Given the description of an element on the screen output the (x, y) to click on. 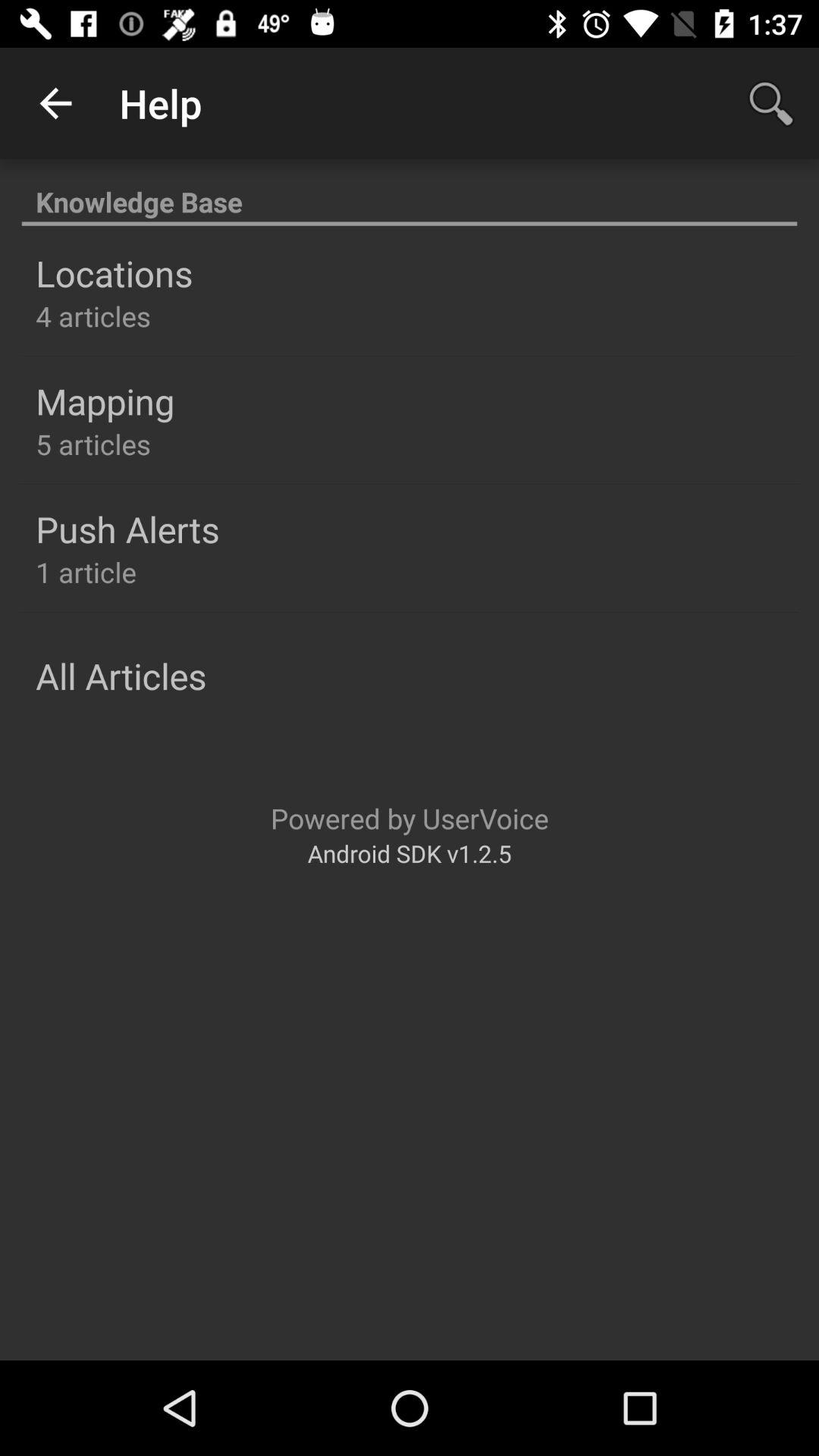
open item next to the help icon (771, 103)
